Given the description of an element on the screen output the (x, y) to click on. 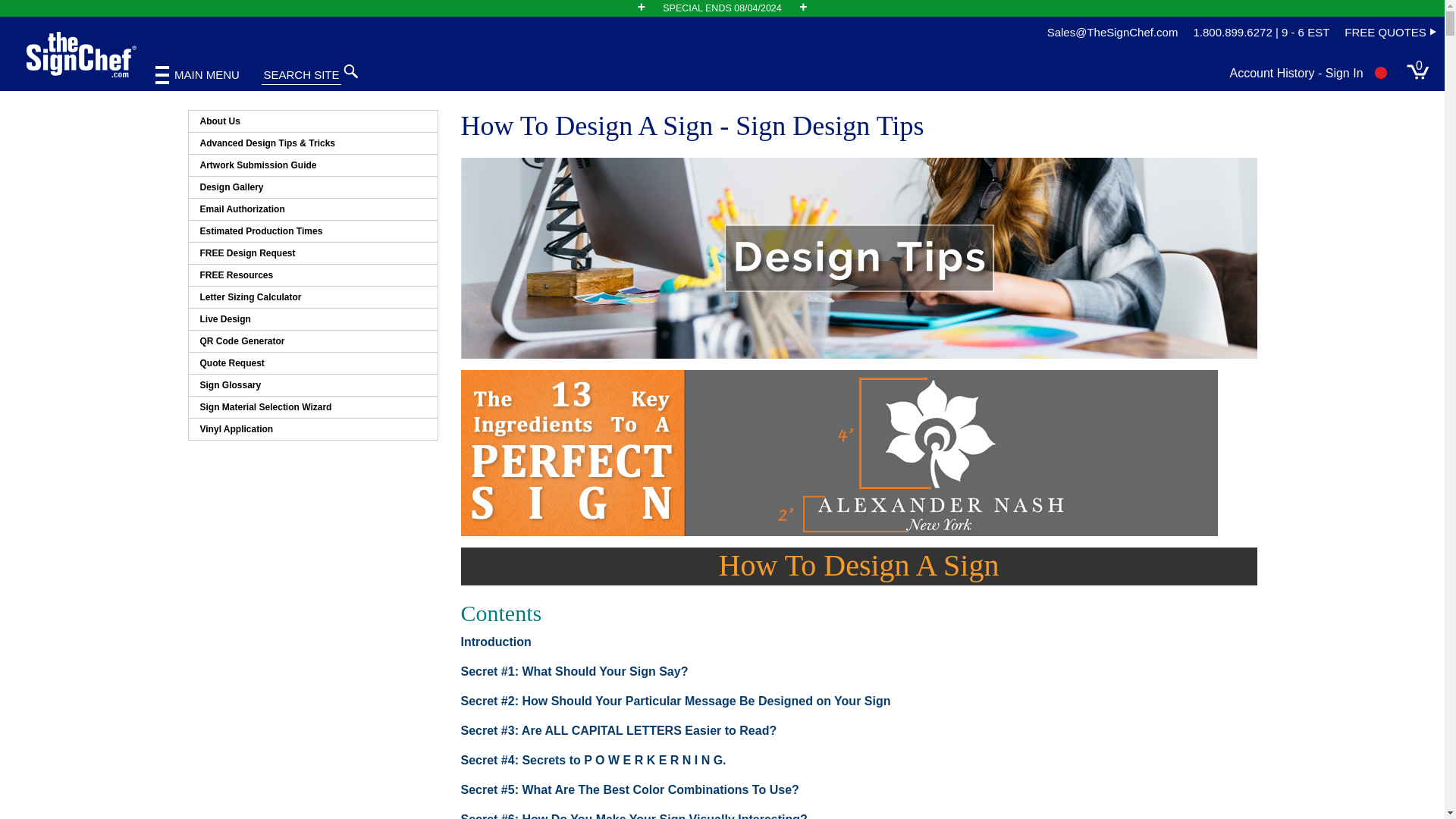
Sign Glossary (311, 384)
Artwork Submission Guide (311, 165)
Free Shipping Special! (721, 8)
Click to view home page (81, 54)
FREE Design Request (311, 252)
Estimated Production Times (311, 230)
FREE Resources (311, 274)
Email Authorization (311, 209)
Quote Request (311, 362)
Call 9:00 - 6:00 EST (1260, 32)
Vinyl Application (311, 428)
Letter Sizing Calculator (311, 296)
Contact Us (1112, 32)
Design Gallery (311, 187)
Search ALL Sign Products (372, 75)
